Given the description of an element on the screen output the (x, y) to click on. 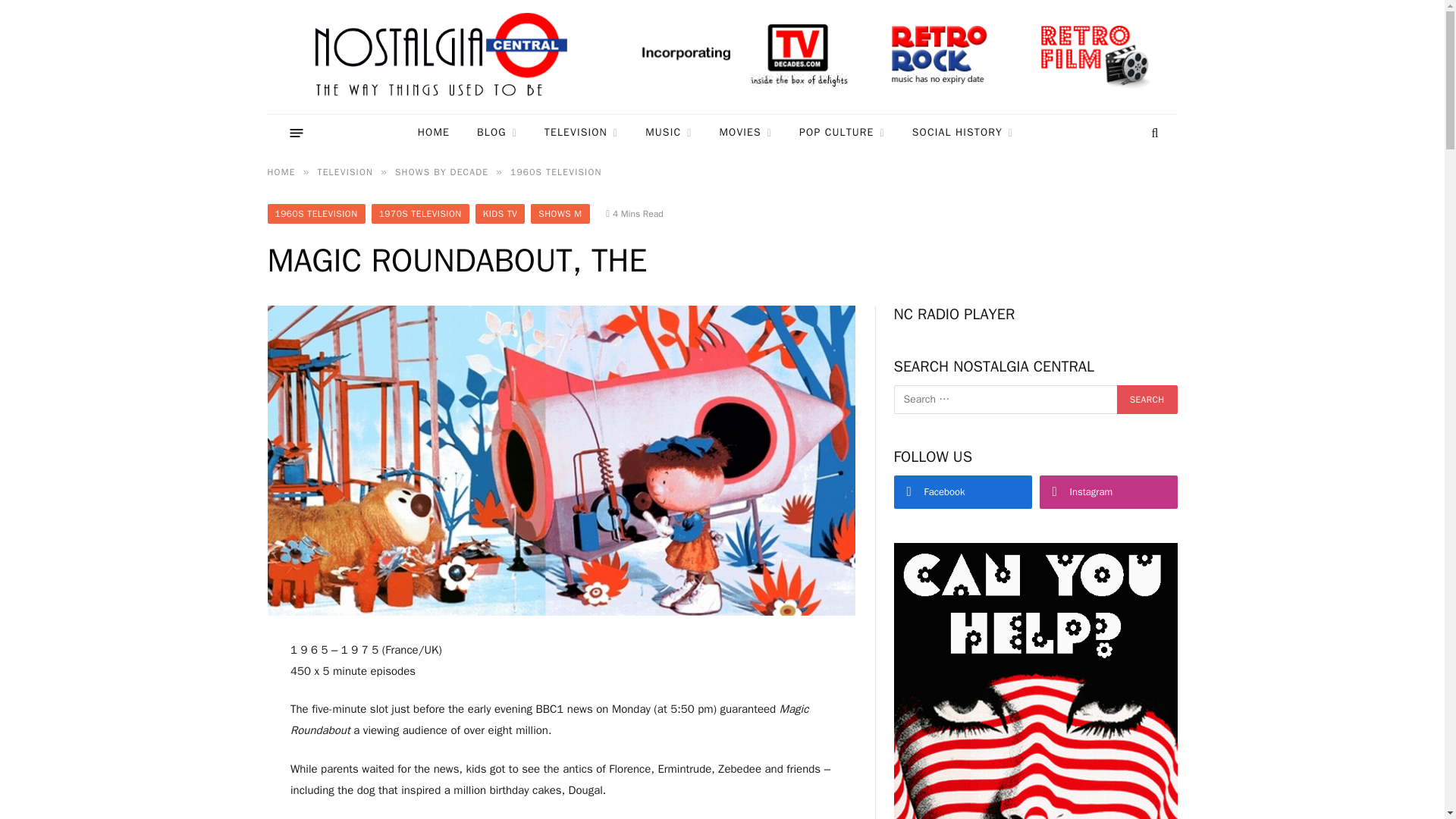
Nostalgia Central (444, 56)
Search (1146, 399)
BLOG (497, 132)
HOME (433, 132)
TELEVISION (581, 132)
Search (1146, 399)
